Given the description of an element on the screen output the (x, y) to click on. 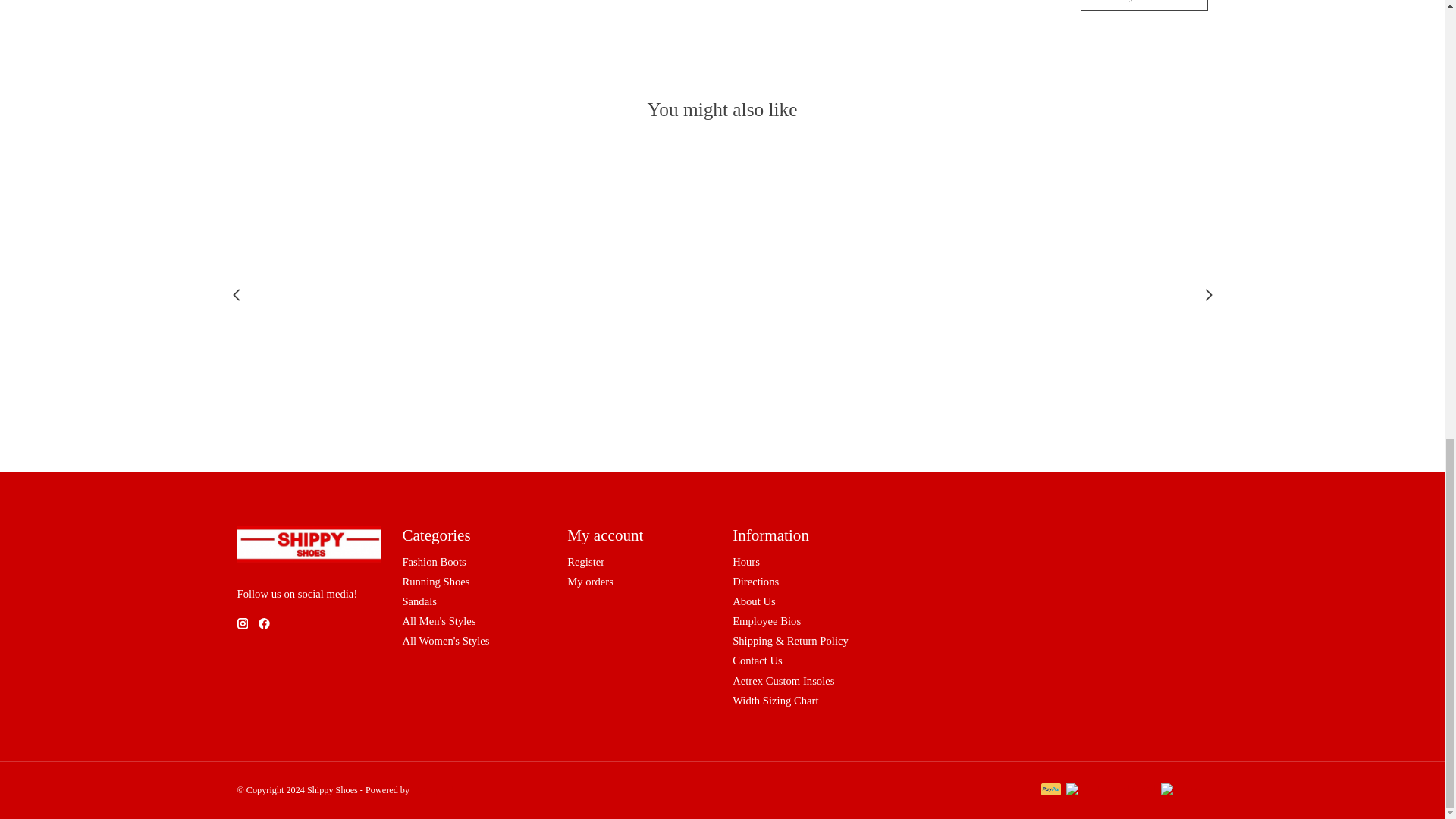
My orders (589, 581)
Hours (746, 562)
Directions (755, 581)
About Us (754, 601)
Register (585, 562)
